Given the description of an element on the screen output the (x, y) to click on. 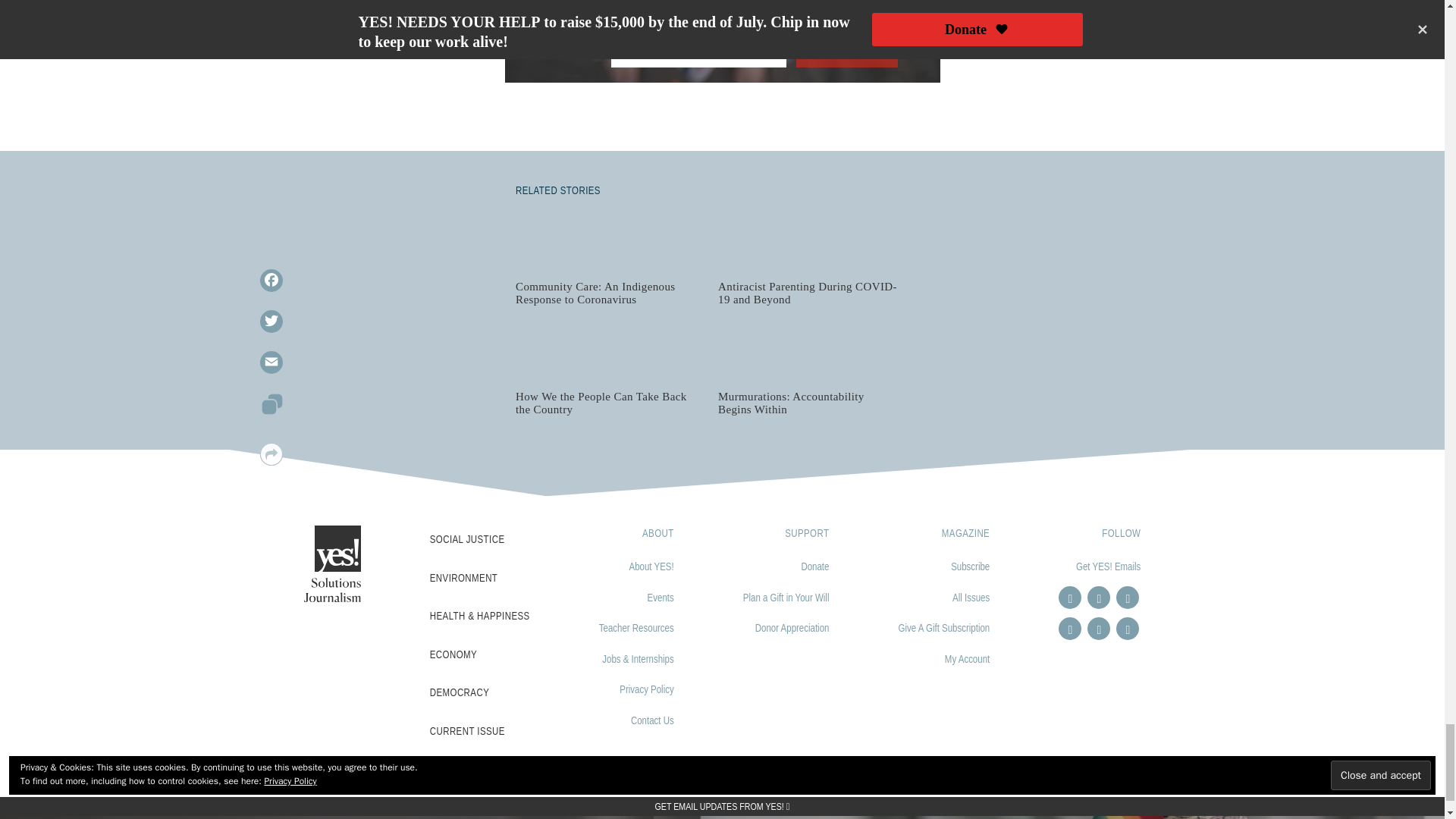
Submit (847, 51)
